Given the description of an element on the screen output the (x, y) to click on. 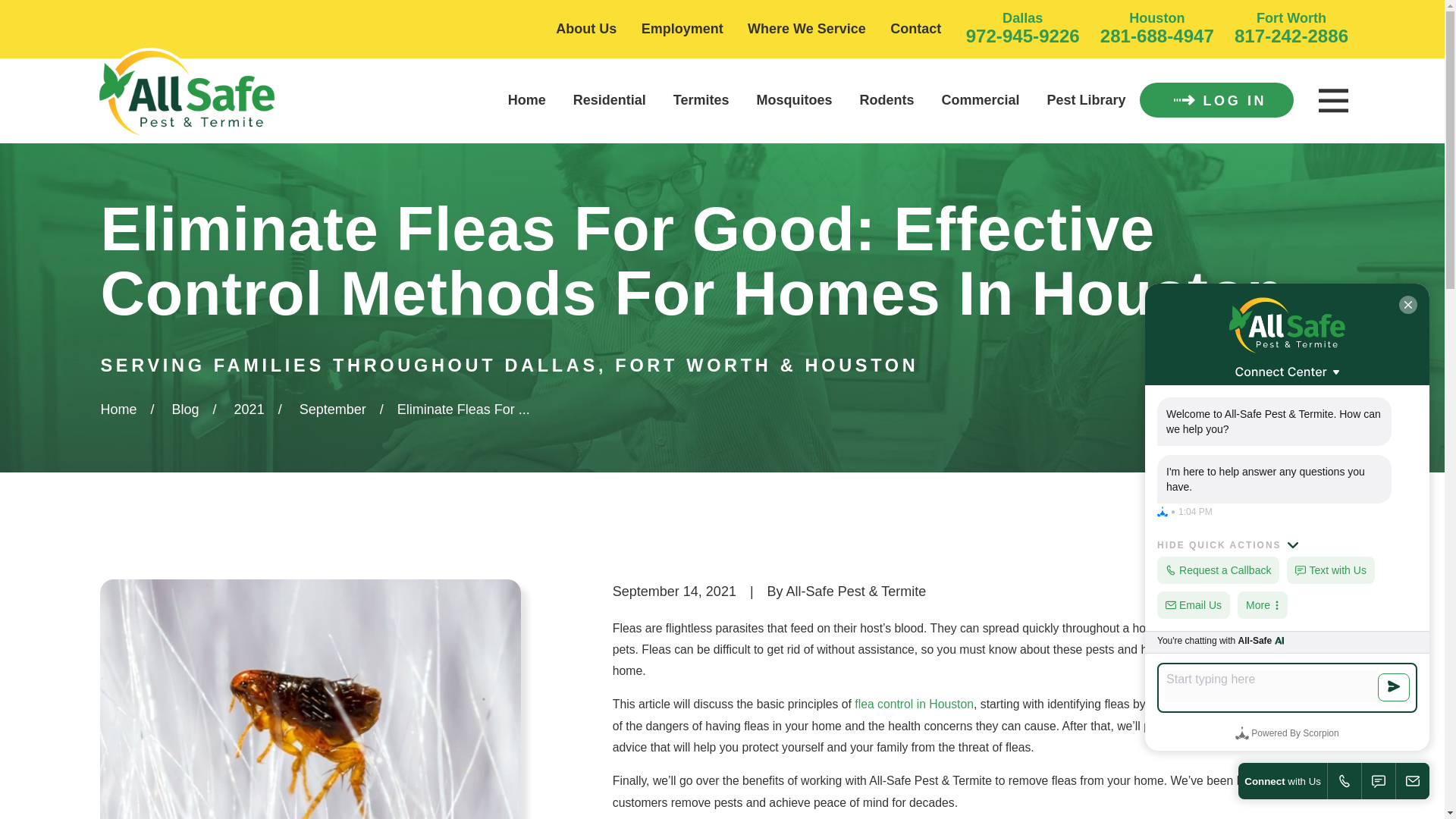
281-688-4947 (1157, 35)
972-945-9226 (1023, 35)
Residential (609, 99)
Termites (700, 99)
Mosquitoes (794, 99)
Contact (914, 28)
About Us (585, 28)
Home (187, 93)
817-242-2886 (1291, 35)
Go Home (118, 409)
Employment (682, 28)
Commercial (981, 99)
Pest Library (1085, 99)
Where We Service (807, 28)
Main Menu (1332, 100)
